Given the description of an element on the screen output the (x, y) to click on. 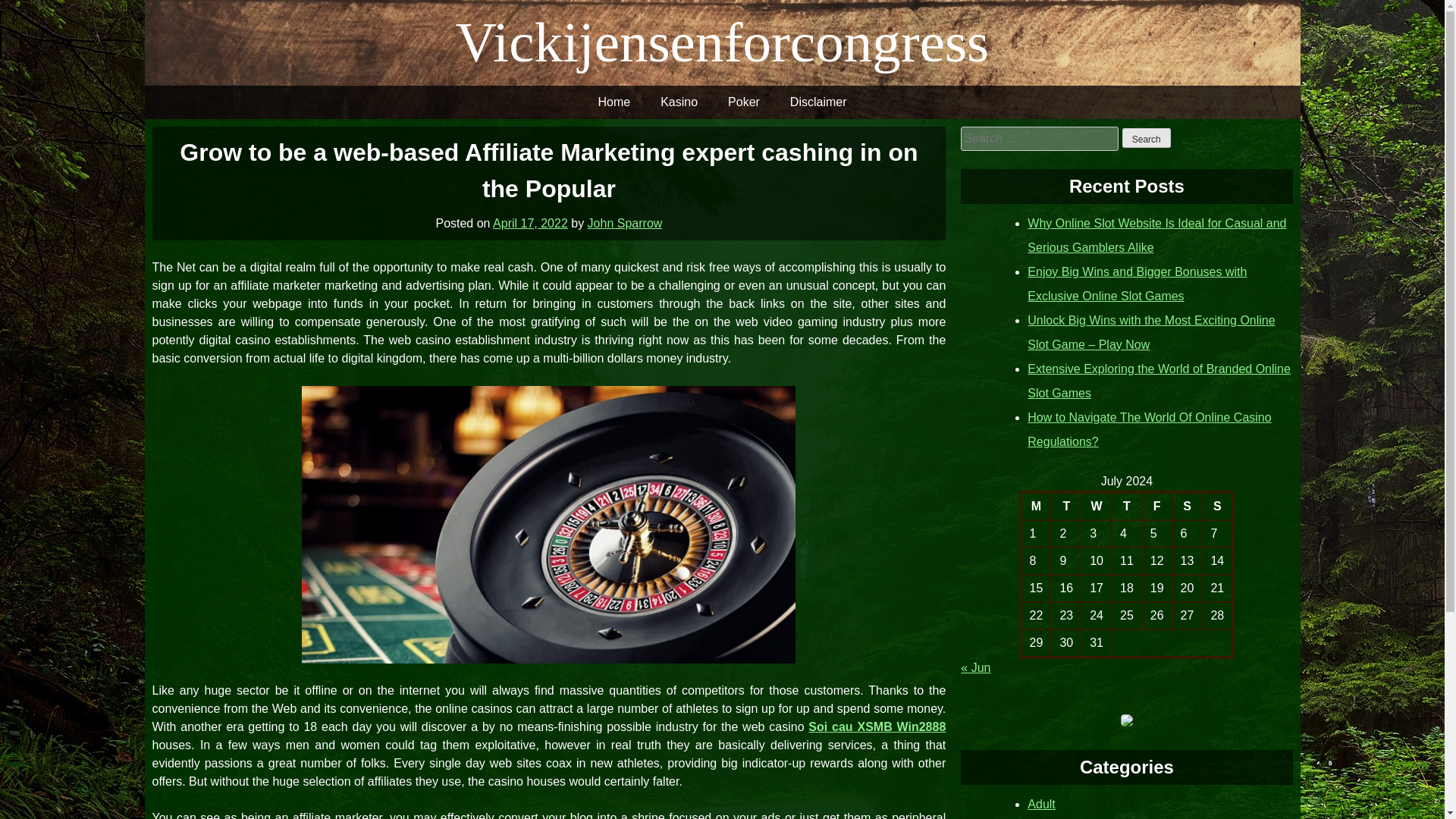
Poker (743, 101)
Kasino (679, 101)
April 17, 2022 (530, 223)
Wednesday (1096, 505)
Extensive Exploring the World of Branded Online Slot Games (1158, 380)
John Sparrow (625, 223)
Friday (1156, 505)
Search (1146, 137)
Search (1146, 137)
Home (613, 101)
Thursday (1126, 505)
Soi cau XSMB Win2888 (876, 726)
Disclaimer (817, 101)
Adult (1040, 803)
